Given the description of an element on the screen output the (x, y) to click on. 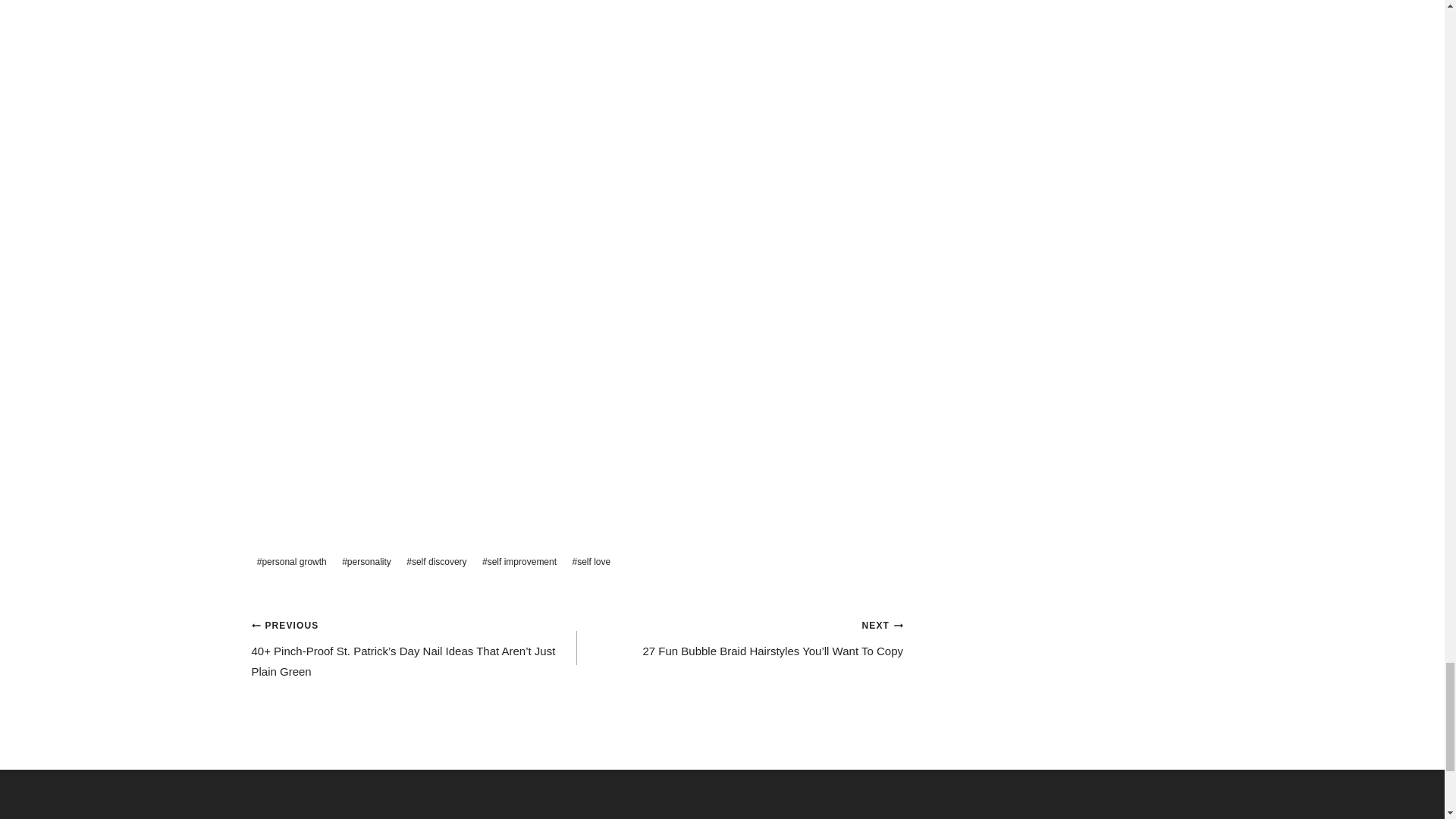
self improvement (519, 562)
self love (590, 562)
self discovery (436, 562)
personal growth (291, 562)
personality (366, 562)
